Given the description of an element on the screen output the (x, y) to click on. 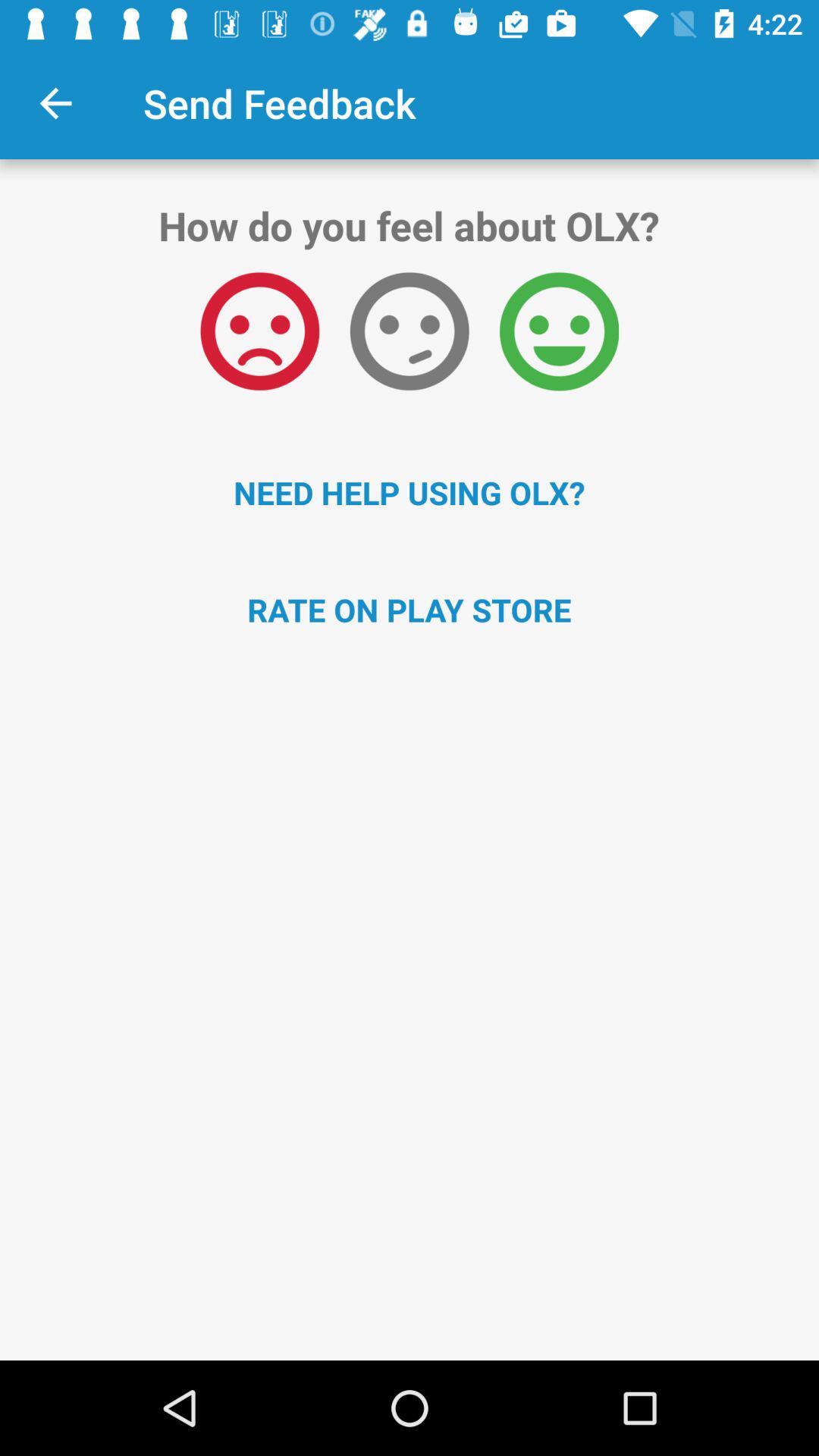
select the item to the left of send feedback app (55, 103)
